Given the description of an element on the screen output the (x, y) to click on. 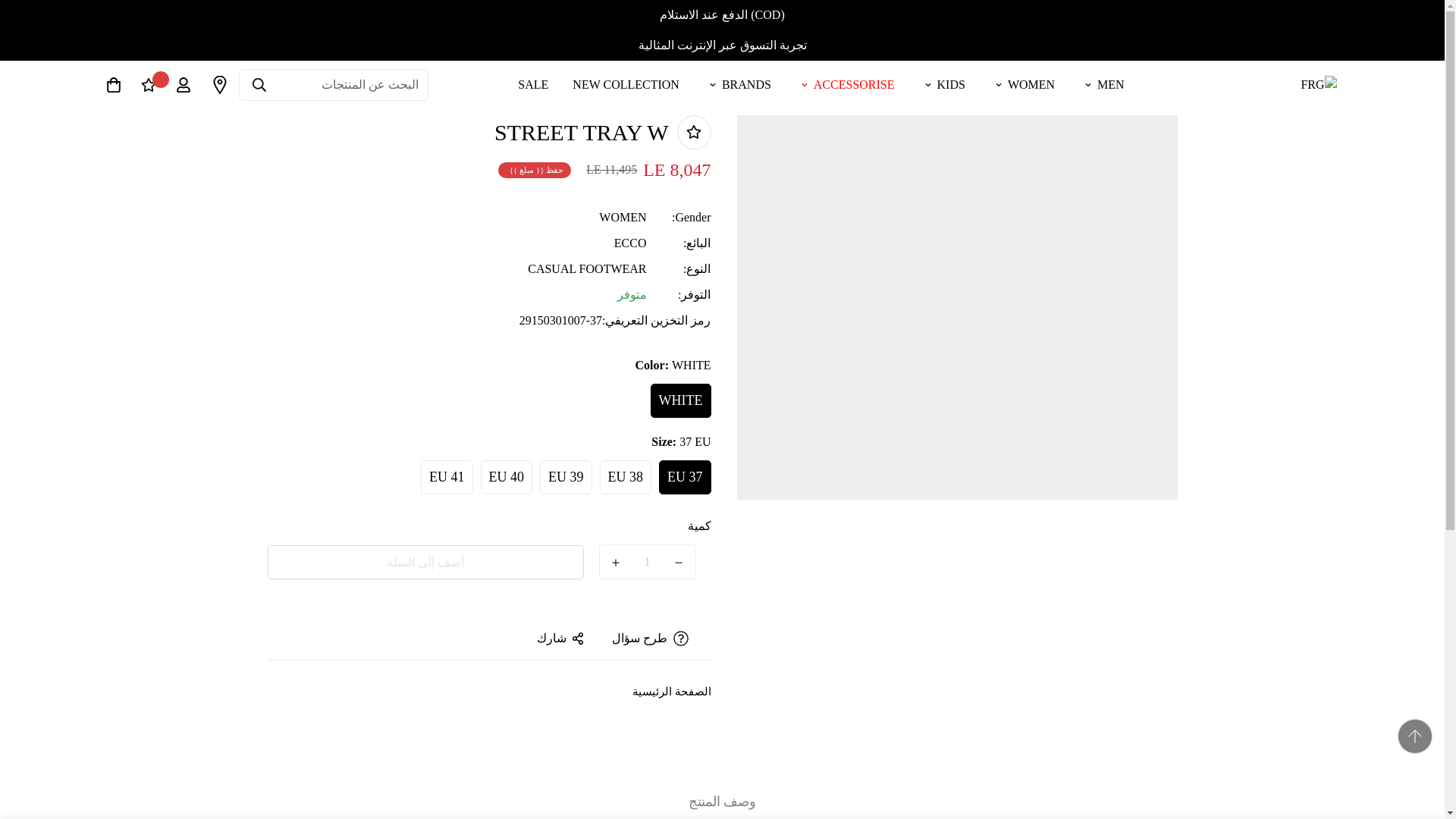
WOMEN (1021, 84)
MEN (1102, 84)
1 (646, 561)
ECCO (630, 242)
CASUAL FOOTWEAR (586, 268)
FRG (1281, 84)
38 EU (821, 84)
